Given the description of an element on the screen output the (x, y) to click on. 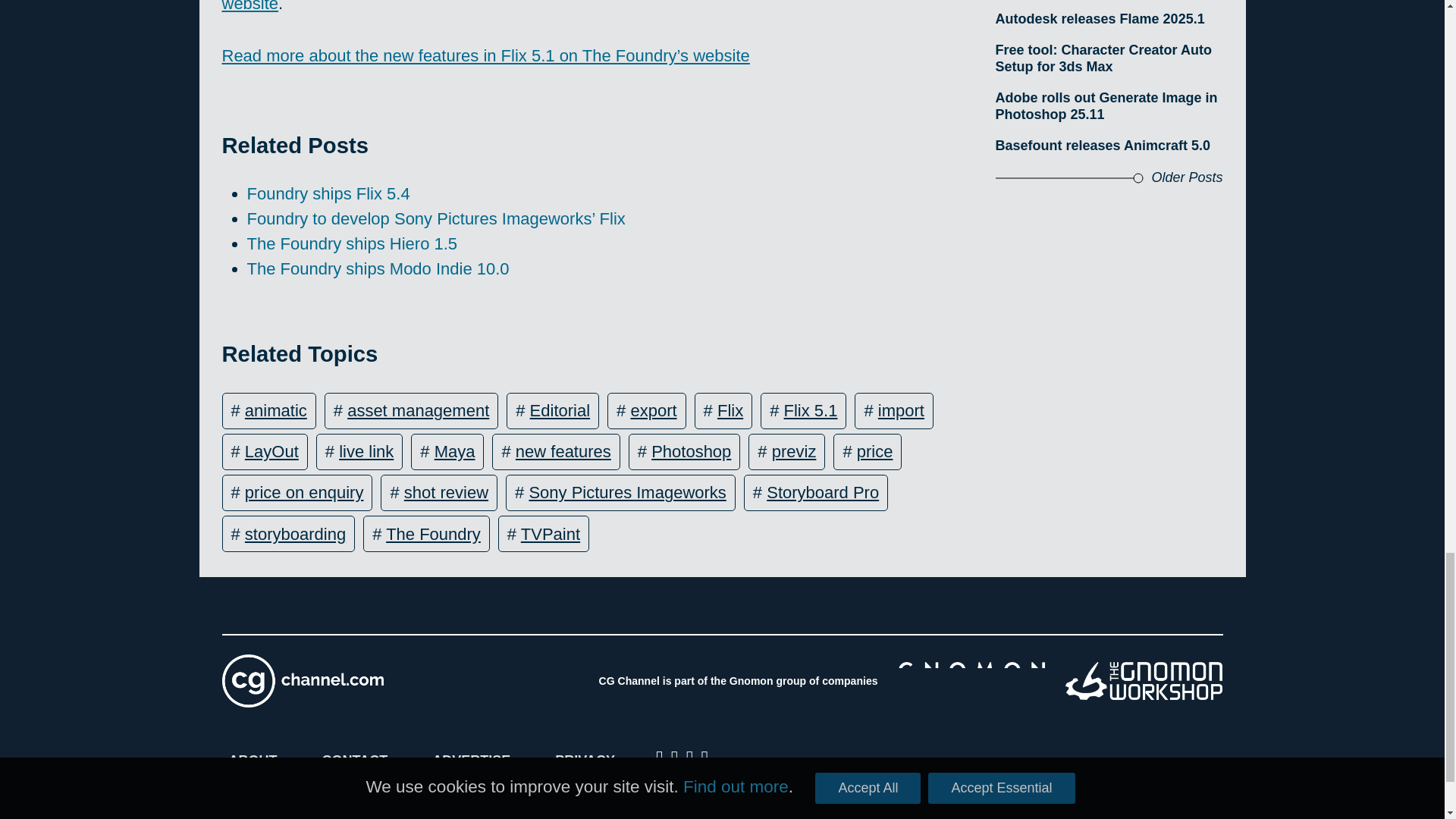
Gnomon School (970, 680)
shot review (445, 492)
Gnomon Workshop (1143, 680)
Maya (454, 451)
previz (793, 451)
asset management (418, 410)
import (900, 410)
Photoshop (690, 451)
Editorial (559, 410)
animatic (275, 410)
export (653, 410)
Foundry ships Flix 5.4 (328, 193)
The Foundry ships Hiero 1.5 (352, 243)
The Foundry ships Modo Indie 10.0 (378, 268)
live link (366, 451)
